Given the description of an element on the screen output the (x, y) to click on. 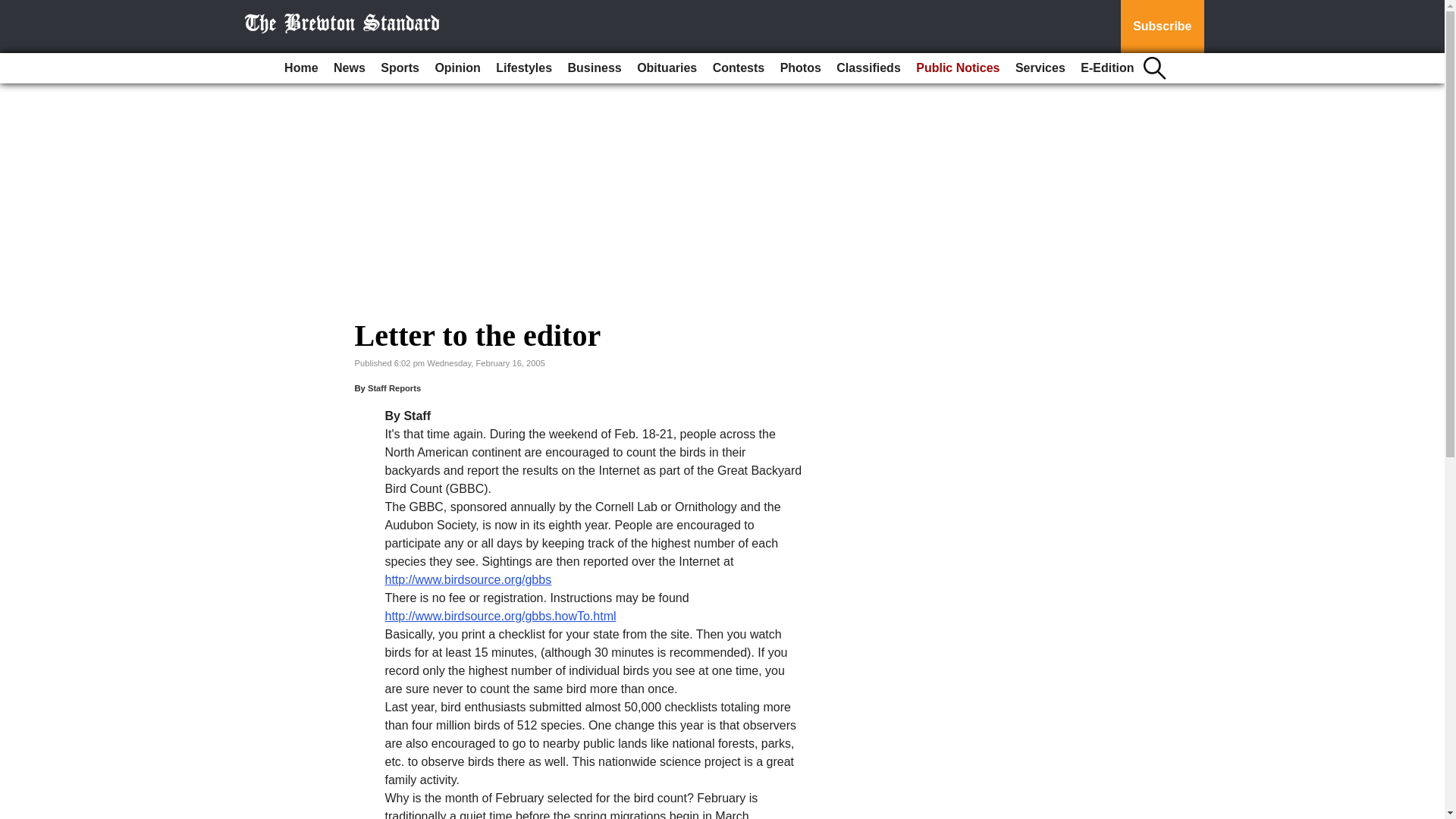
Public Notices (958, 68)
Services (1040, 68)
Staff Reports (394, 388)
Go (13, 9)
Subscribe (1162, 26)
Business (594, 68)
Lifestyles (523, 68)
Contests (738, 68)
Opinion (457, 68)
Photos (800, 68)
E-Edition (1107, 68)
Home (300, 68)
Sports (399, 68)
Obituaries (666, 68)
Classifieds (867, 68)
